Given the description of an element on the screen output the (x, y) to click on. 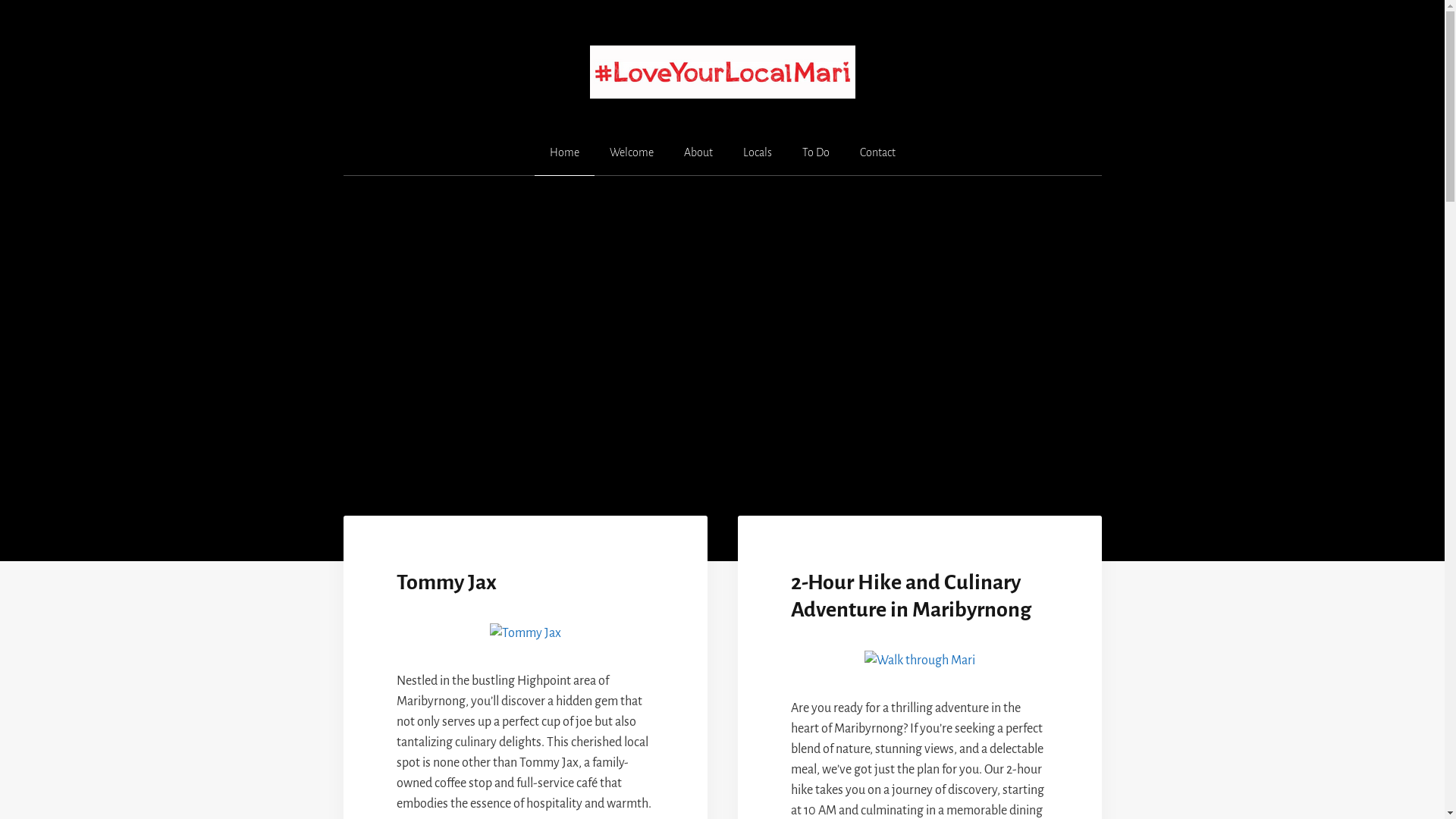
2-Hour Hike and Culinary Adventure in Maribyrnong Element type: text (910, 596)
Contact Element type: text (877, 152)
Home Element type: text (563, 152)
Welcome Element type: text (631, 152)
To Do Element type: text (815, 152)
Tommy Jax Element type: text (445, 582)
About Element type: text (698, 152)
Locals Element type: text (757, 152)
